Given the description of an element on the screen output the (x, y) to click on. 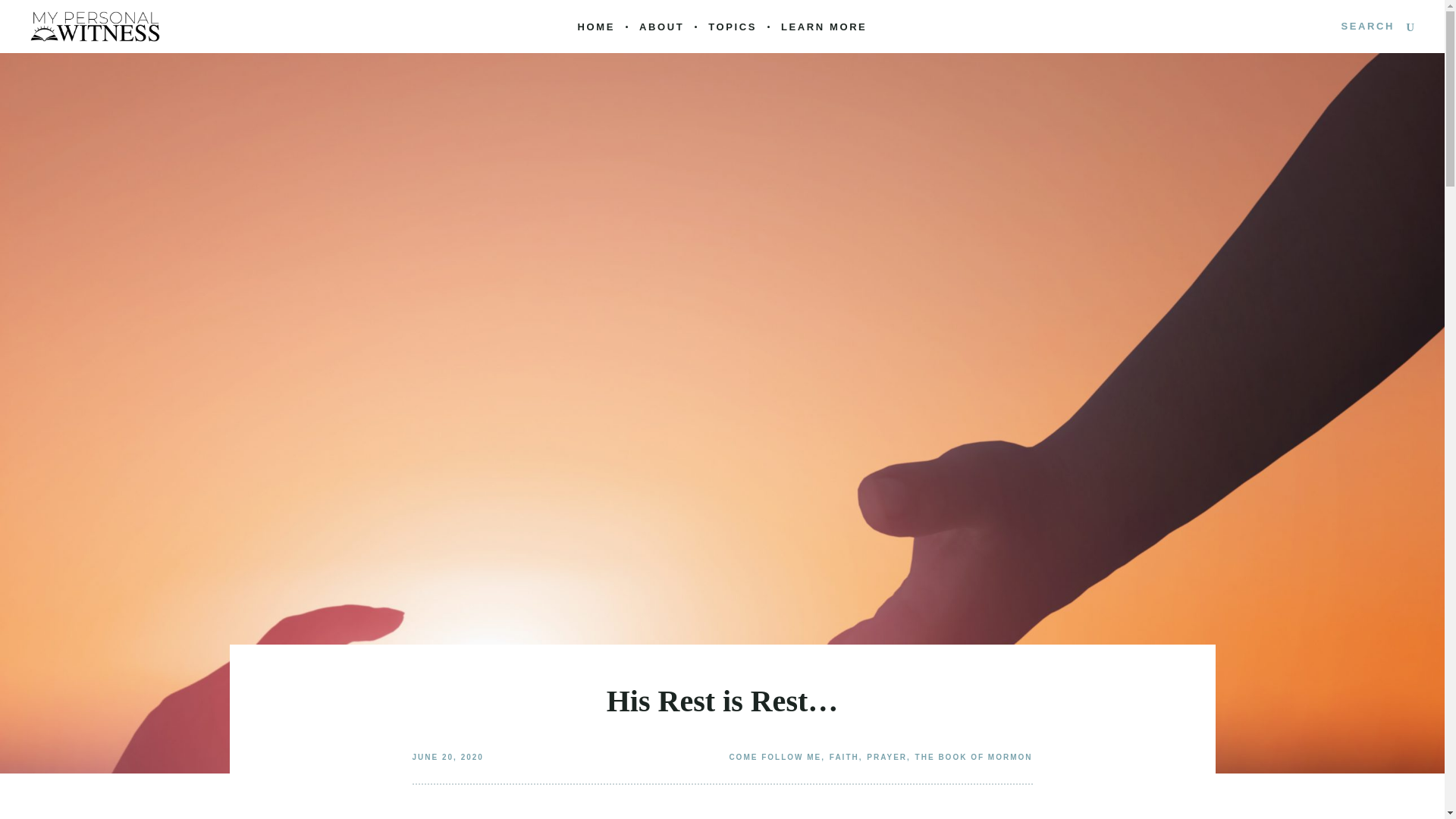
SEARCH (1376, 25)
THE BOOK OF MORMON (973, 756)
PRAYER (886, 756)
FAITH (844, 756)
JUNE 20, 2020 (447, 756)
LEARN MORE (823, 26)
TOPICS (732, 26)
COME FOLLOW ME (775, 756)
